Given the description of an element on the screen output the (x, y) to click on. 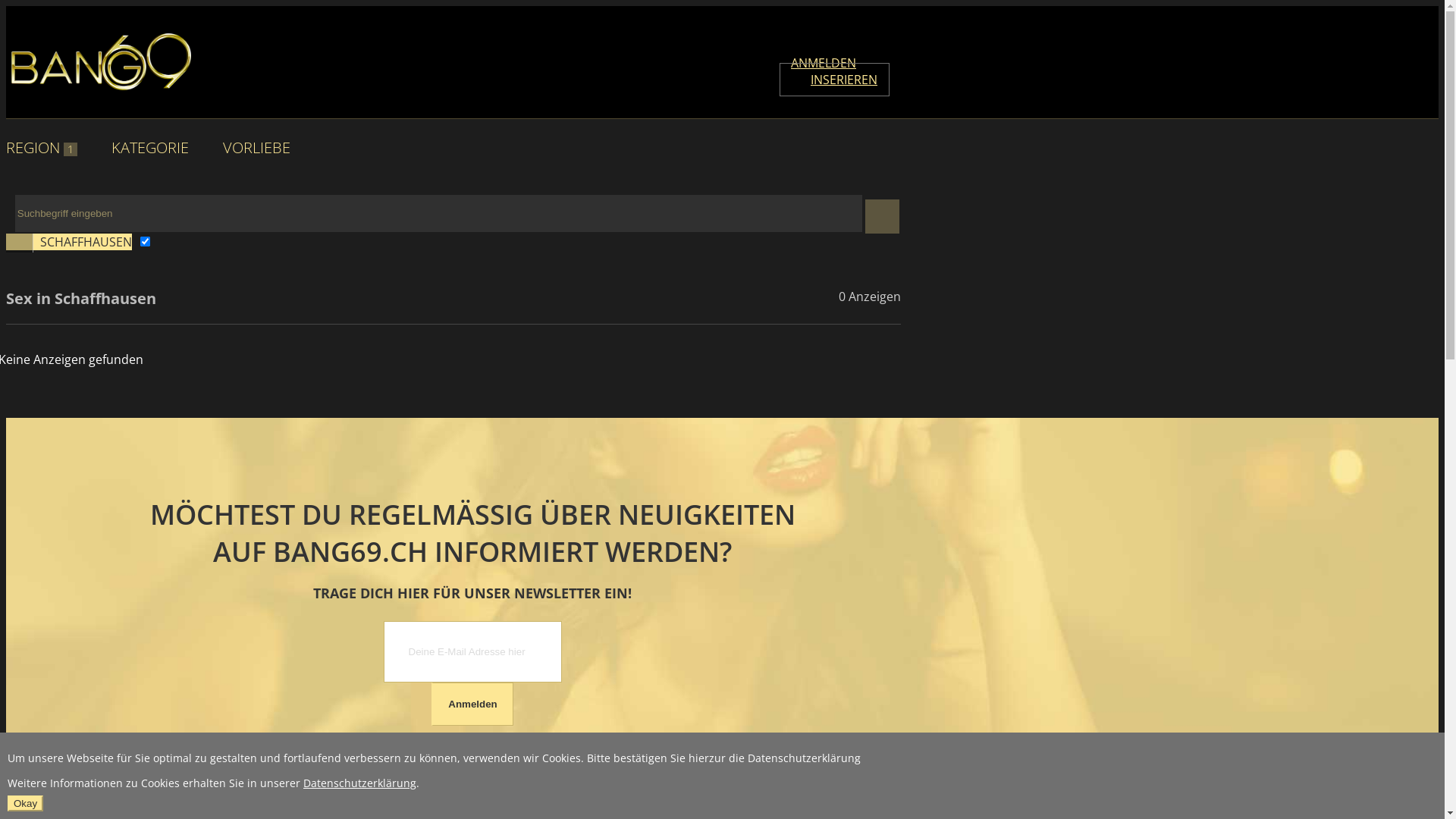
Okay Element type: text (25, 803)
Anmelden Element type: text (471, 703)
INSERIEREN Element type: text (834, 79)
Sex mit Girls von bang69.ch Element type: text (98, 61)
ANMELDEN Element type: text (823, 62)
